Given the description of an element on the screen output the (x, y) to click on. 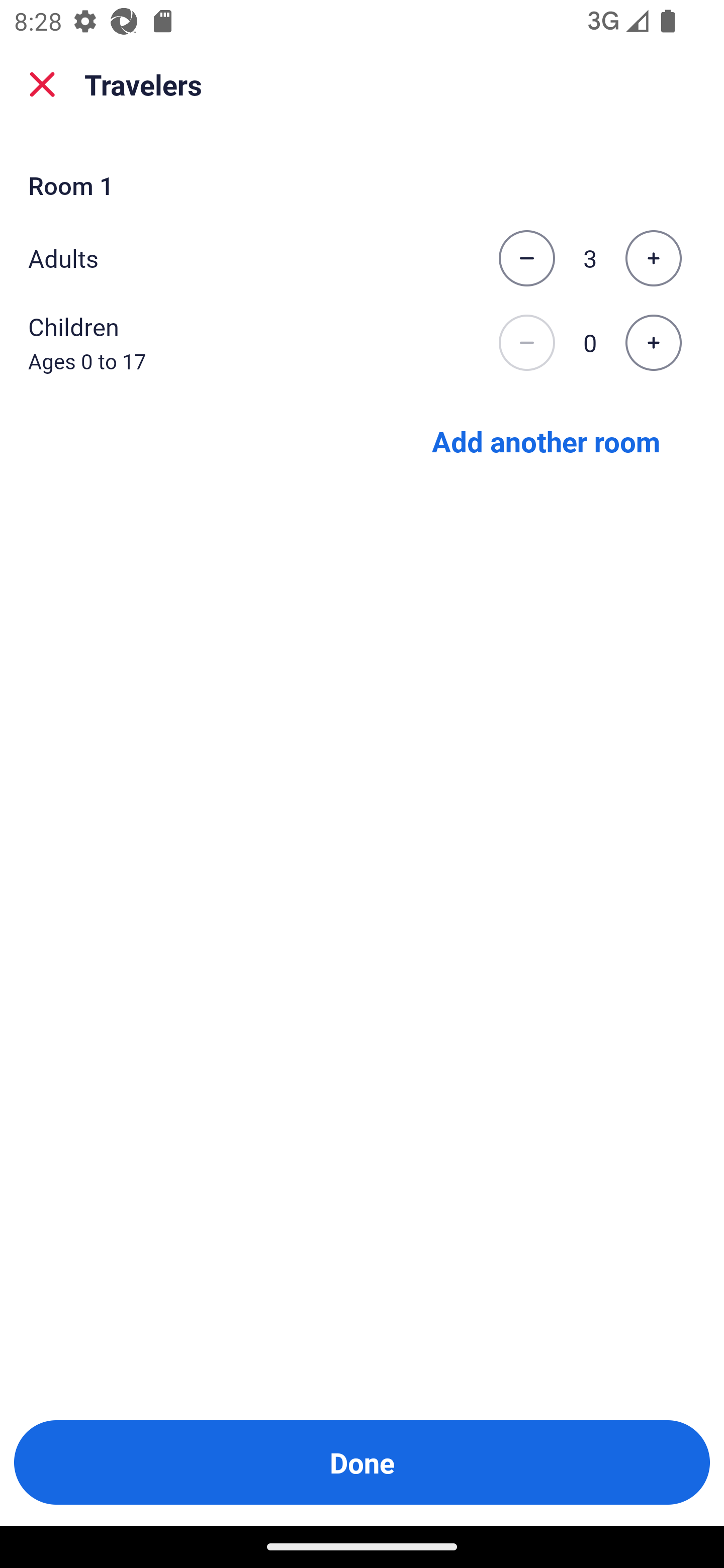
close (42, 84)
Decrease the number of adults (526, 258)
Increase the number of adults (653, 258)
Decrease the number of children (526, 343)
Increase the number of children (653, 343)
Add another room (545, 440)
Done (361, 1462)
